Given the description of an element on the screen output the (x, y) to click on. 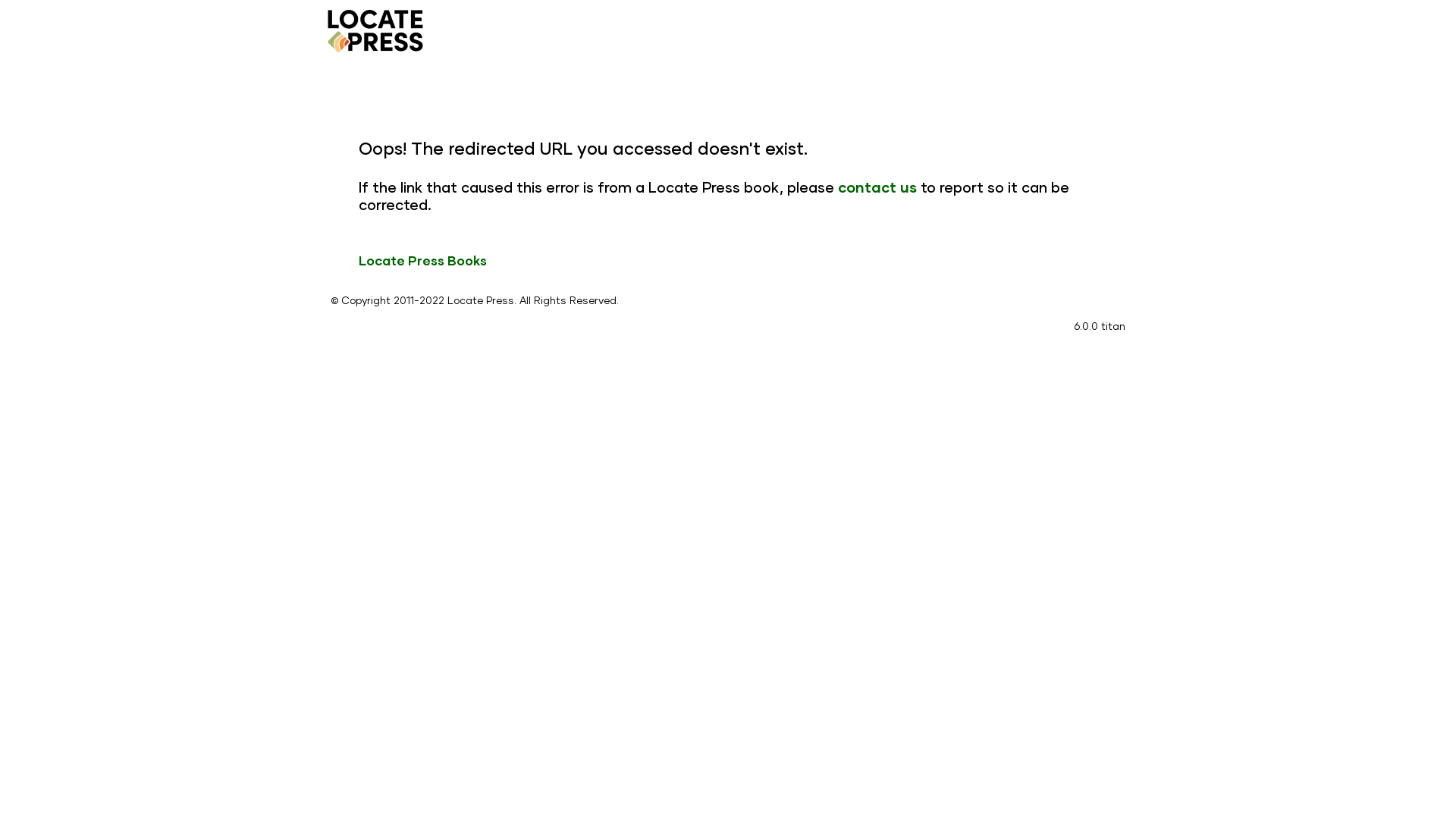
contact us Element type: text (876, 186)
Locate Press Books Element type: text (422, 260)
